Given the description of an element on the screen output the (x, y) to click on. 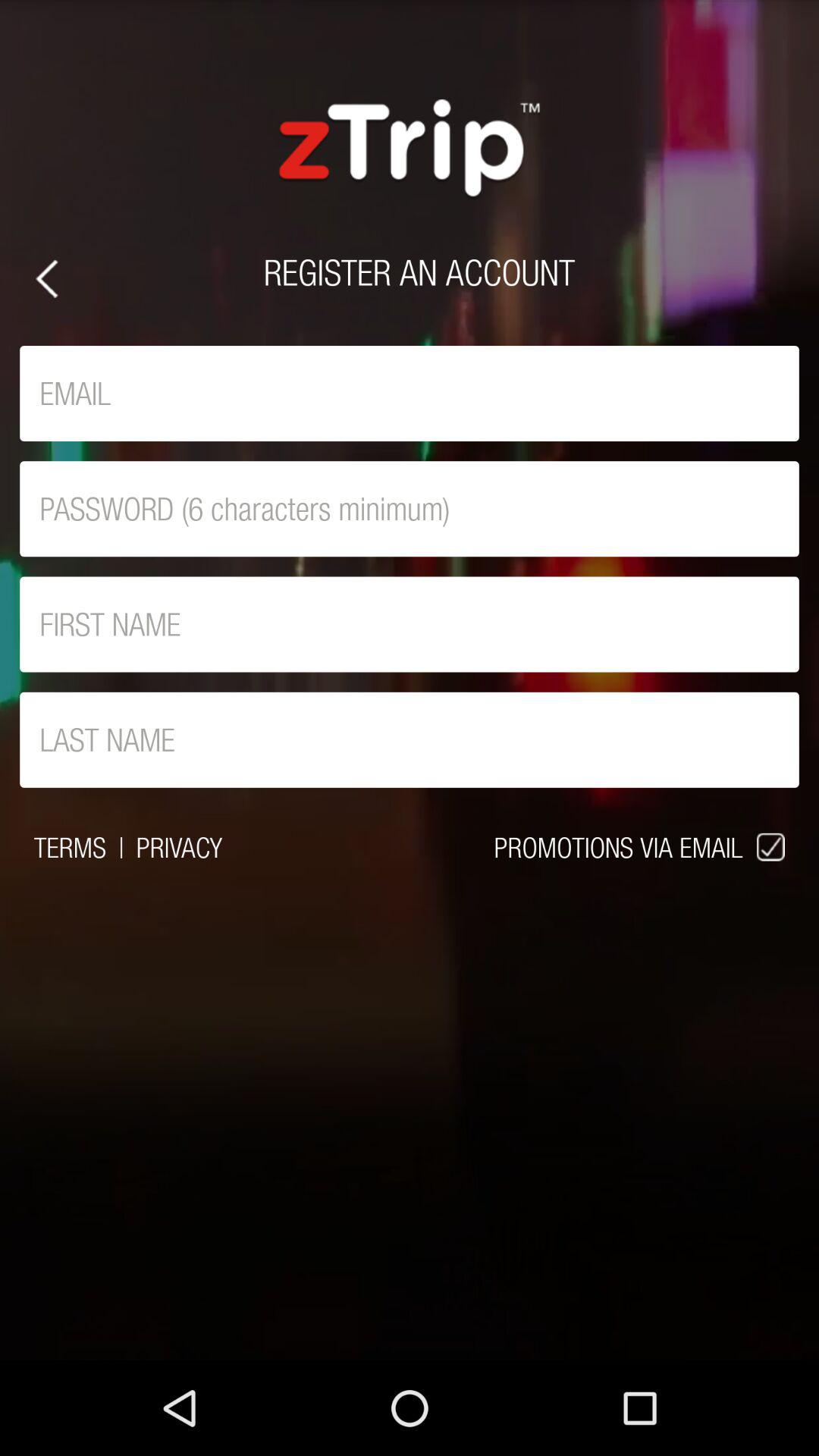
tap icon next to | icon (179, 847)
